Given the description of an element on the screen output the (x, y) to click on. 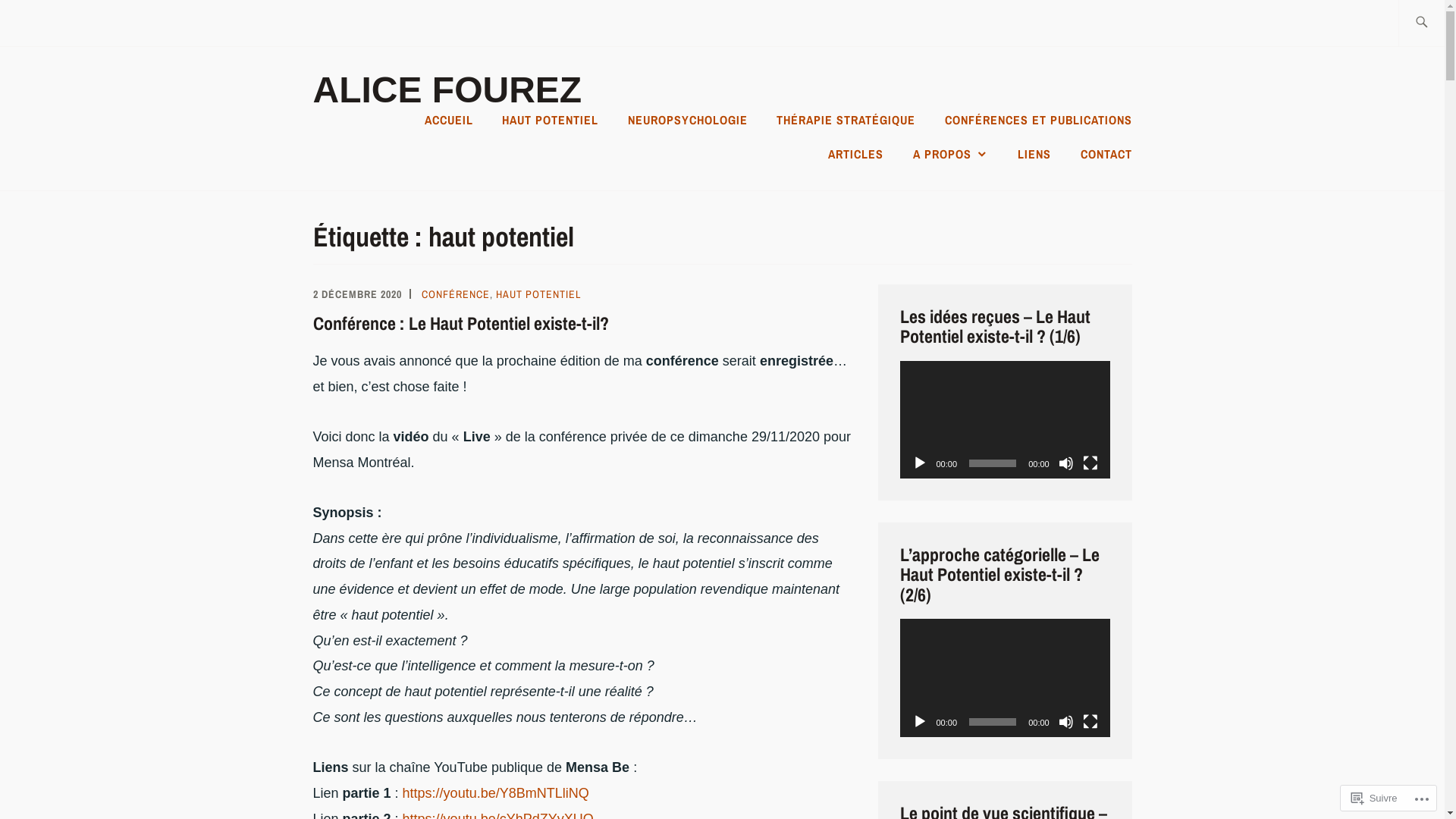
ALICE FOUREZ Element type: text (446, 89)
https://youtu.be/Y8BmNTLliNQ Element type: text (495, 792)
HAUT POTENTIEL Element type: text (537, 294)
Suivre Element type: text (1374, 797)
HAUT POTENTIEL Element type: text (550, 119)
NEUROPSYCHOLOGIE Element type: text (687, 119)
A PROPOS Element type: text (950, 153)
Rechercher Element type: text (65, 21)
ACCUEIL Element type: text (448, 119)
Muet Element type: hover (1065, 462)
ARTICLES Element type: text (855, 153)
Muet Element type: hover (1065, 721)
CONTACT Element type: text (1105, 153)
LIENS Element type: text (1034, 153)
Lecture Element type: hover (918, 462)
Lecture Element type: hover (918, 721)
